Given the description of an element on the screen output the (x, y) to click on. 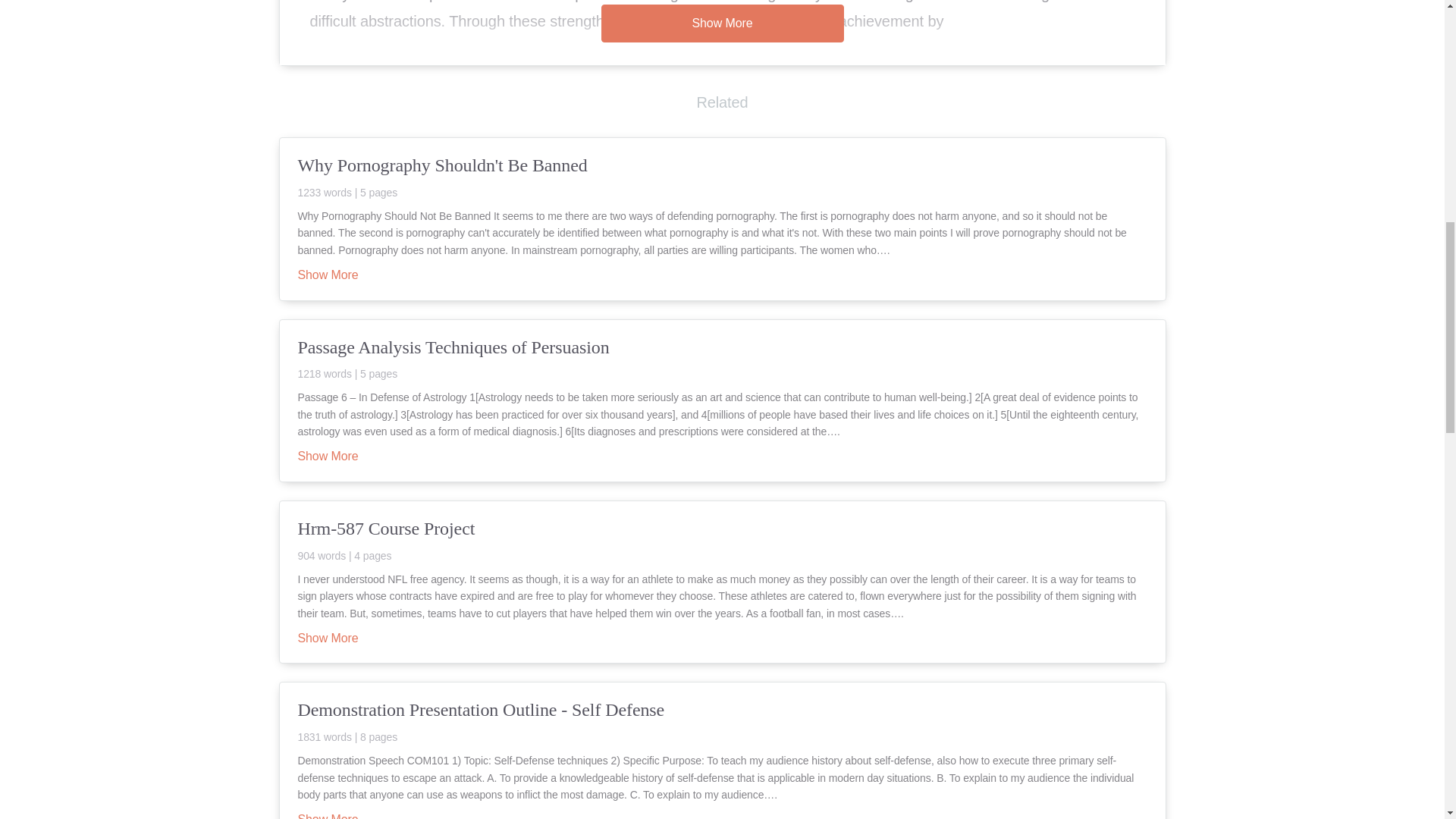
Hrm-587 Course Project (722, 538)
Why Pornography Shouldn't Be Banned (722, 176)
Demonstration Presentation Outline - Self Defense (722, 719)
Show More (721, 23)
Show More (327, 816)
Passage Analysis Techniques of Persuasion (722, 357)
Show More (327, 276)
Show More (327, 638)
Show More (327, 457)
